Given the description of an element on the screen output the (x, y) to click on. 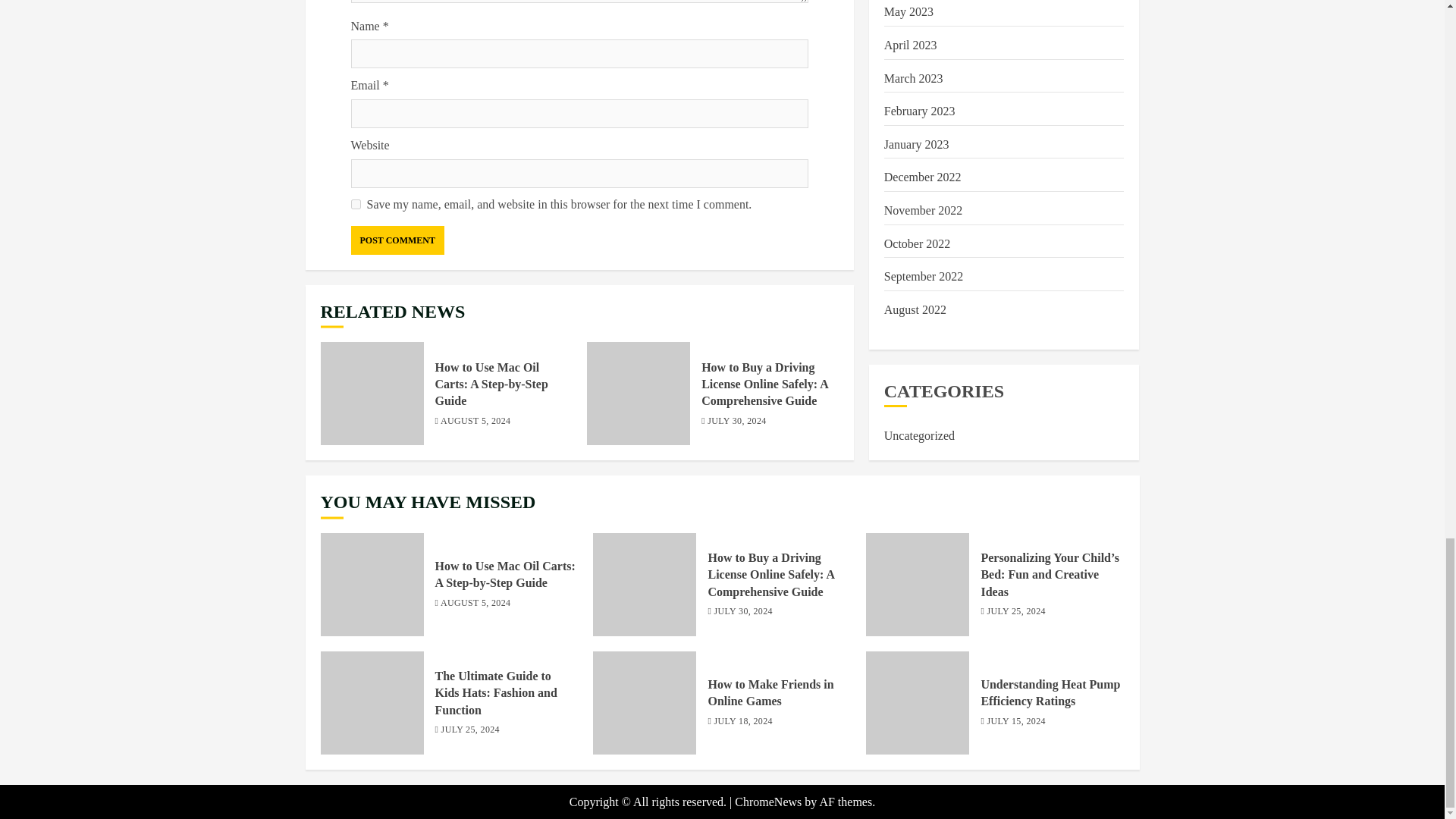
yes (354, 204)
How to Use Mac Oil Carts: A Step-by-Step Guide (371, 393)
Post Comment (397, 240)
Post Comment (397, 240)
How to Use Mac Oil Carts: A Step-by-Step Guide (491, 384)
